Given the description of an element on the screen output the (x, y) to click on. 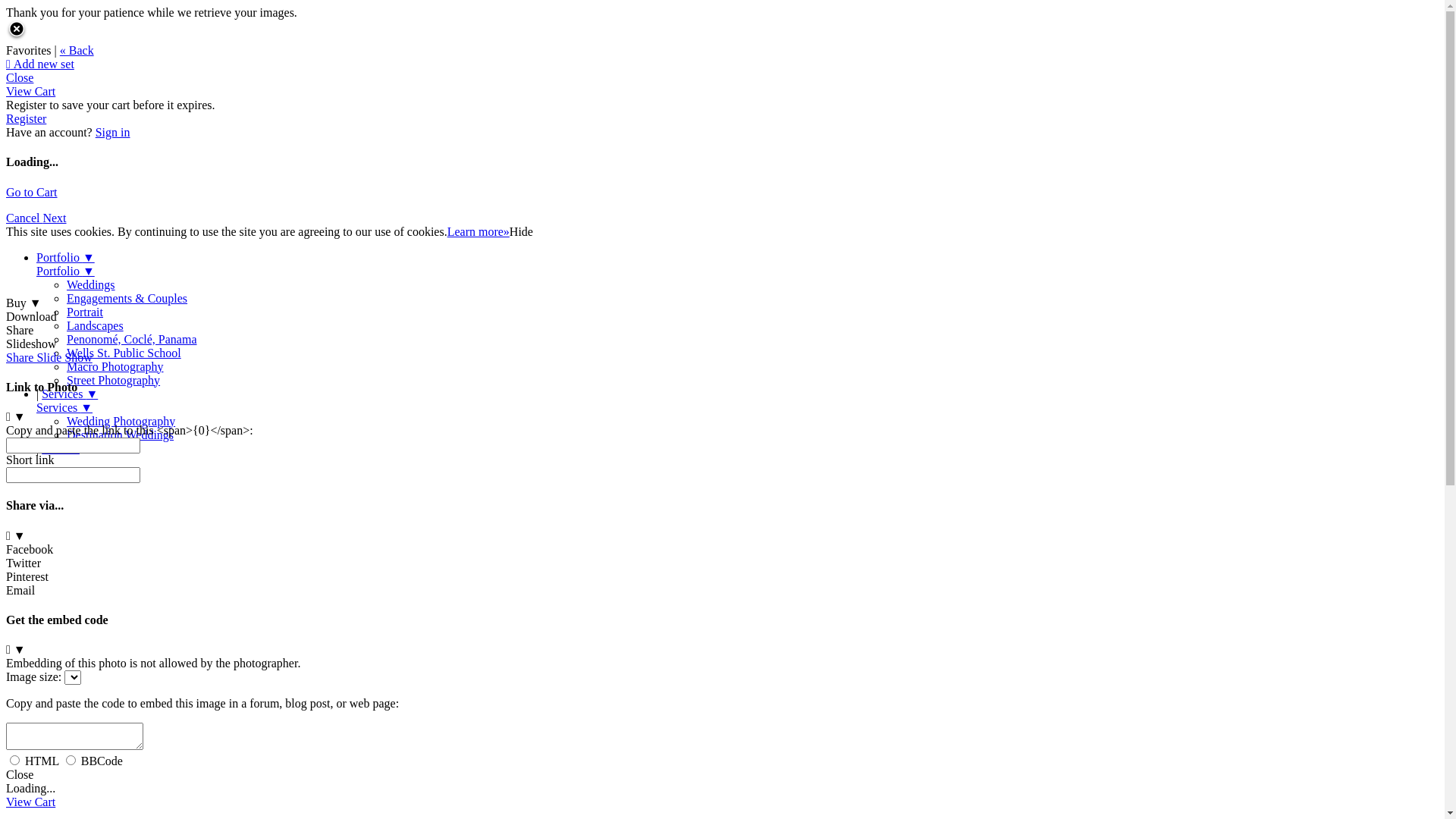
Cancel Element type: text (24, 217)
Sign in Element type: text (112, 131)
View Cart Element type: text (30, 90)
Engagements & Couples Element type: text (126, 297)
Weddings Element type: text (90, 284)
Portrait Element type: text (84, 311)
View Cart Element type: text (30, 801)
Wells St. Public School Element type: text (123, 352)
Landscapes Element type: text (94, 325)
Contact Element type: text (60, 448)
Hide Element type: text (521, 231)
Email Element type: text (722, 596)
Destination Weddings Element type: text (119, 434)
Macro Photography Element type: text (114, 366)
Twitter Element type: text (722, 569)
Next Element type: text (53, 217)
Facebook Element type: text (722, 548)
Wedding Photography Element type: text (120, 420)
Street Photography Element type: text (113, 379)
Share Slide Show Element type: text (49, 357)
Close Element type: text (19, 77)
Pinterest Element type: text (722, 583)
Go to Cart Element type: text (31, 191)
Register Element type: text (26, 118)
